Given the description of an element on the screen output the (x, y) to click on. 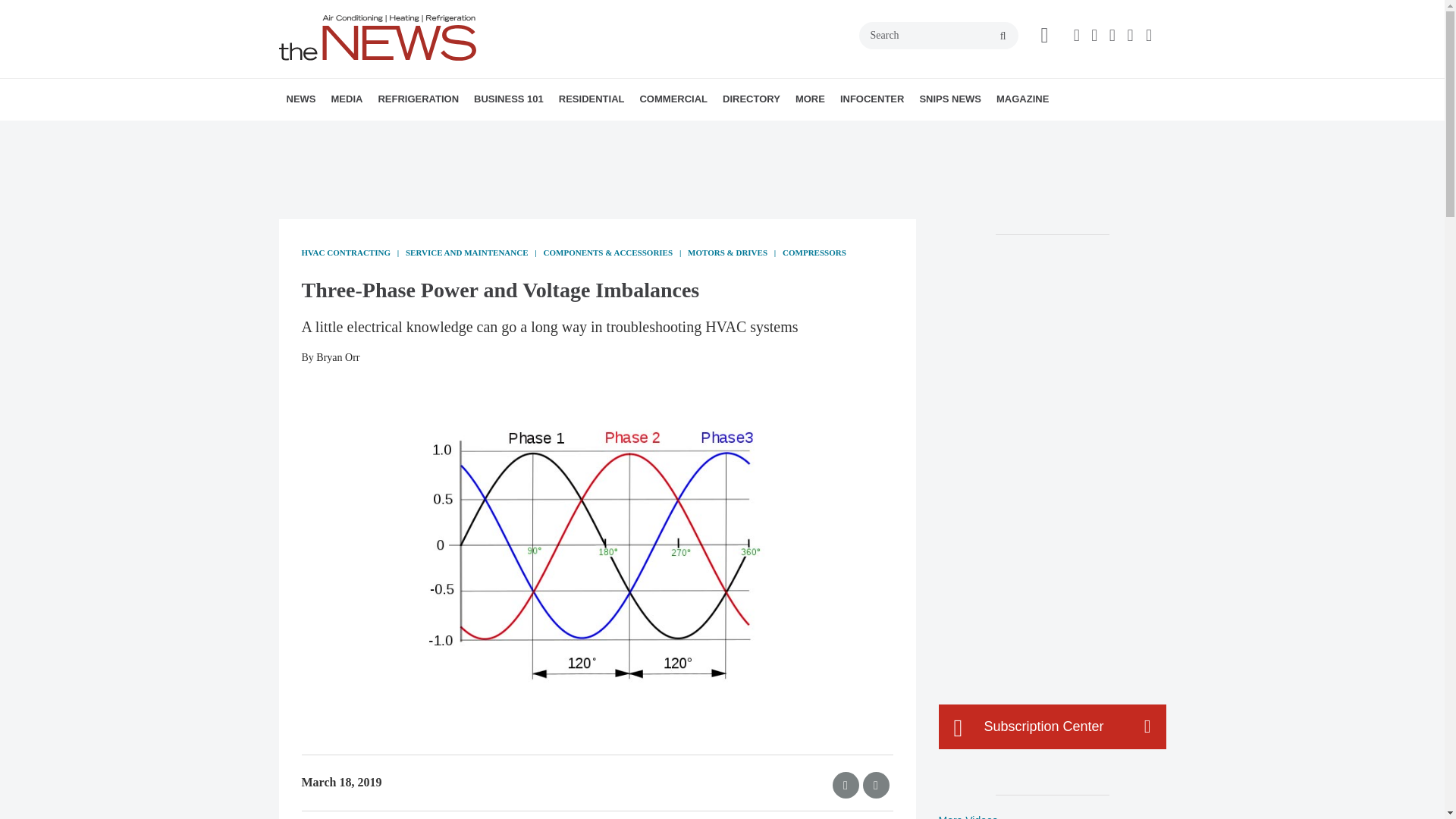
REFRIGERATION (417, 98)
BUSINESS 101 (508, 98)
MANUFACTURER REPORTS (386, 132)
AHR EXPO 2024 VIDEOS (424, 132)
DUCTWORD PUZZLE (449, 132)
REFRIGERANT REGULATIONS (472, 132)
Search (938, 35)
WEBINARS (436, 132)
MEDIA (346, 98)
THE NEWS HVACR QUIZ (445, 132)
